Given the description of an element on the screen output the (x, y) to click on. 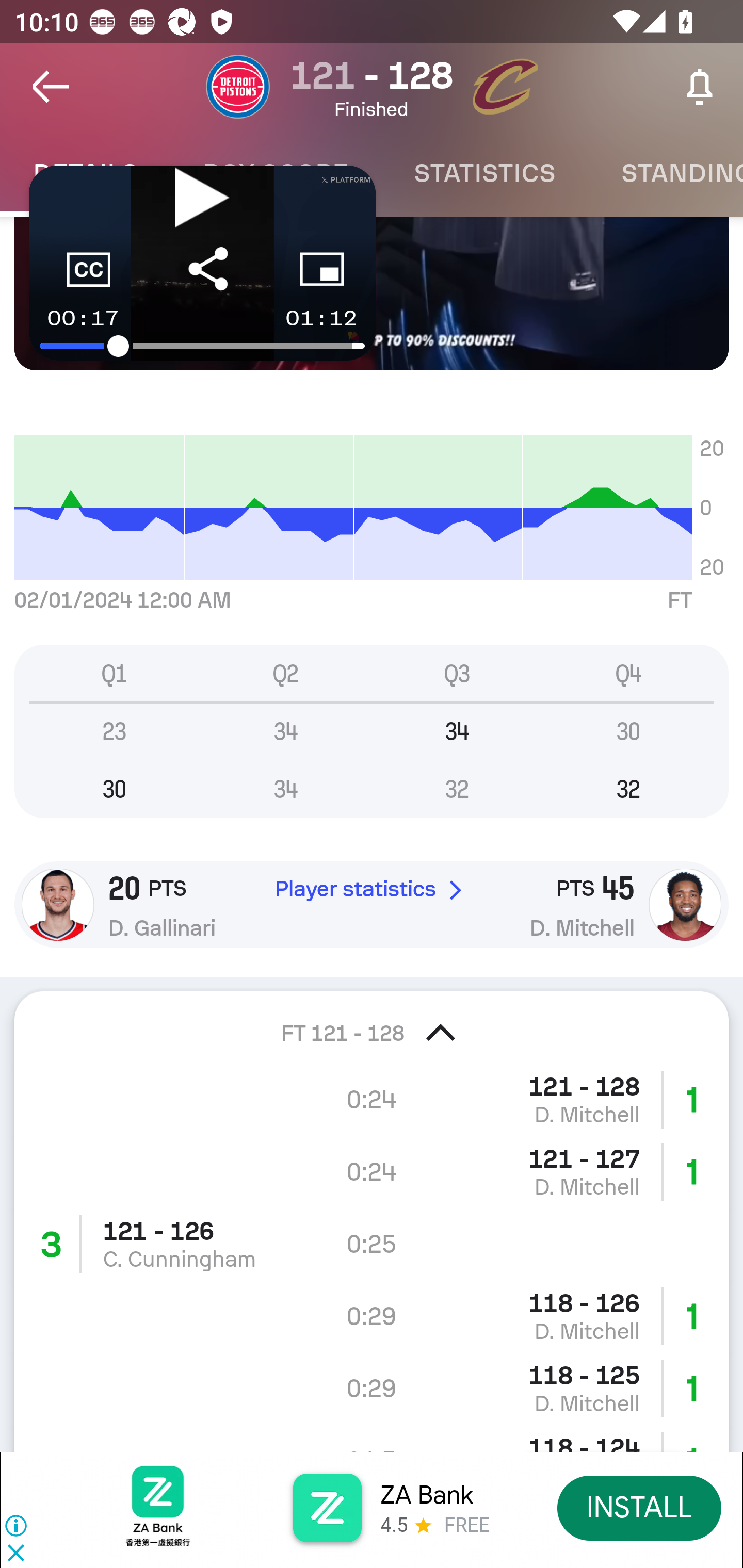
Navigate up (50, 86)
Statistics STATISTICS (484, 173)
Standings STANDINGS (665, 173)
FT 121 - 128 (371, 1019)
128  -  121 D. Mitchell 0:24 (371, 1099)
127  -  121 D. Mitchell 0:24 (371, 1171)
121  -  126 C. Cunningham 0:25 (371, 1243)
126  -  118 D. Mitchell 0:29 (371, 1315)
125  -  118 D. Mitchell 0:29 (371, 1388)
INSTALL (639, 1507)
ZA Bank (426, 1494)
